Given the description of an element on the screen output the (x, y) to click on. 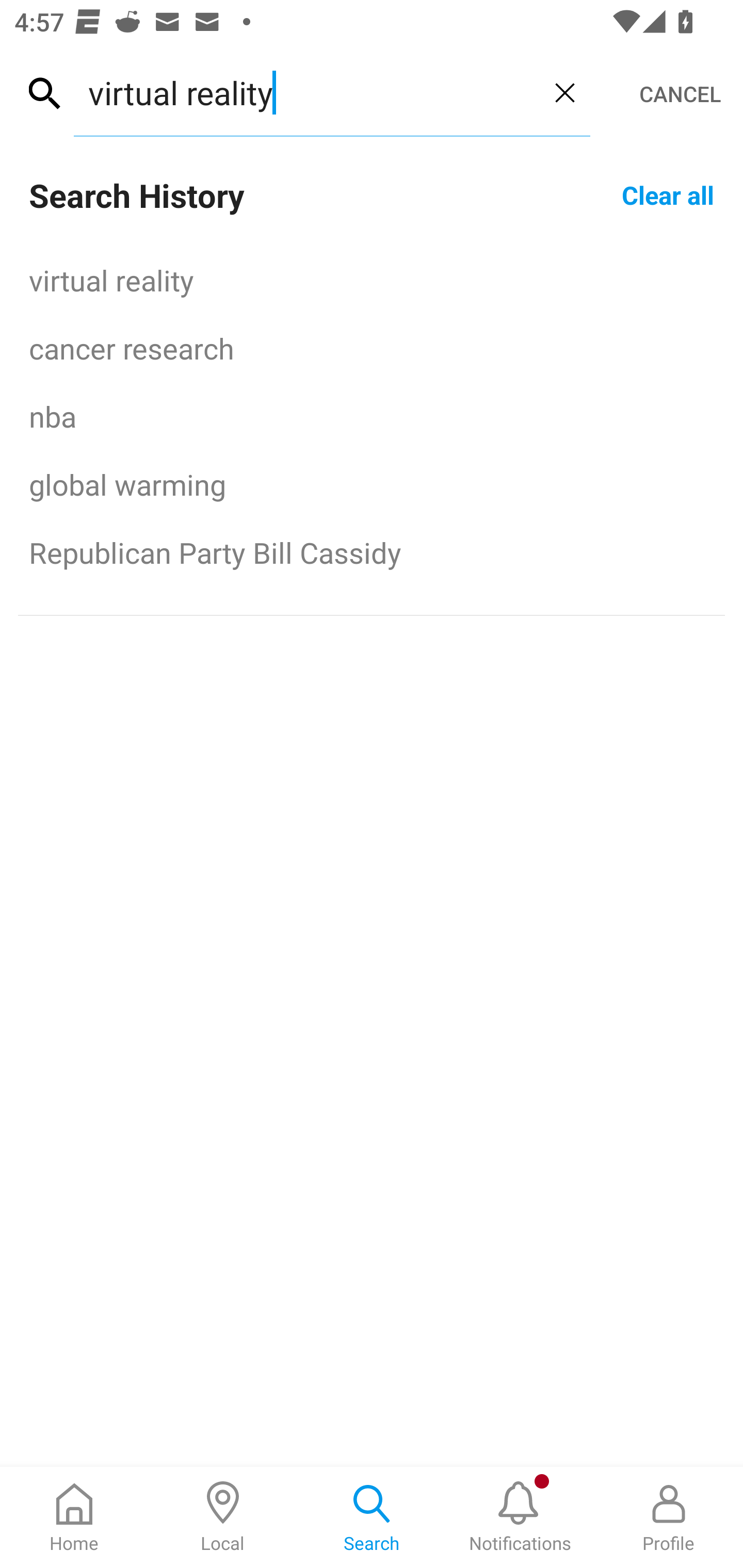
Clear query (564, 92)
CANCEL (680, 93)
virtual reality (306, 92)
Clear all (667, 194)
virtual reality (371, 279)
cancer research (371, 347)
nba (371, 416)
global warming (371, 484)
Republican Party Bill Cassidy (371, 552)
Home (74, 1517)
Local (222, 1517)
Notifications, New notification Notifications (519, 1517)
Profile (668, 1517)
